Given the description of an element on the screen output the (x, y) to click on. 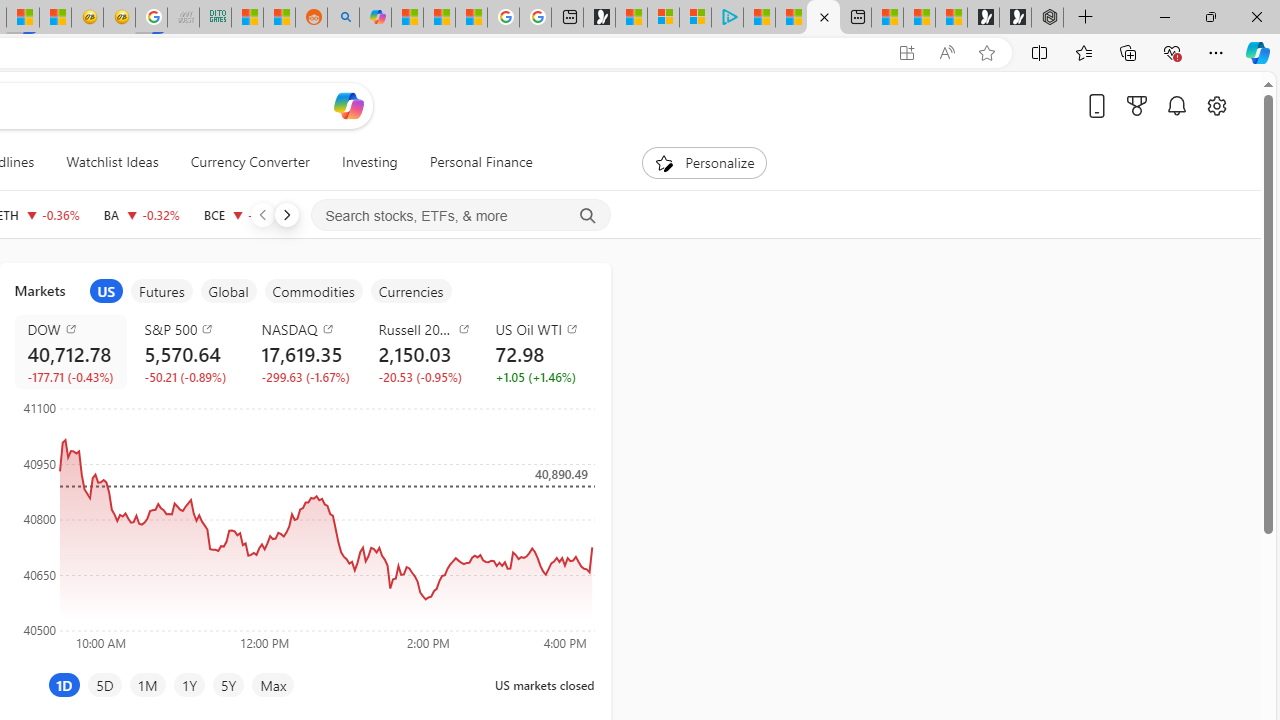
Next (286, 214)
item2 (161, 291)
1D (64, 684)
NASDAQ (307, 328)
